Given the description of an element on the screen output the (x, y) to click on. 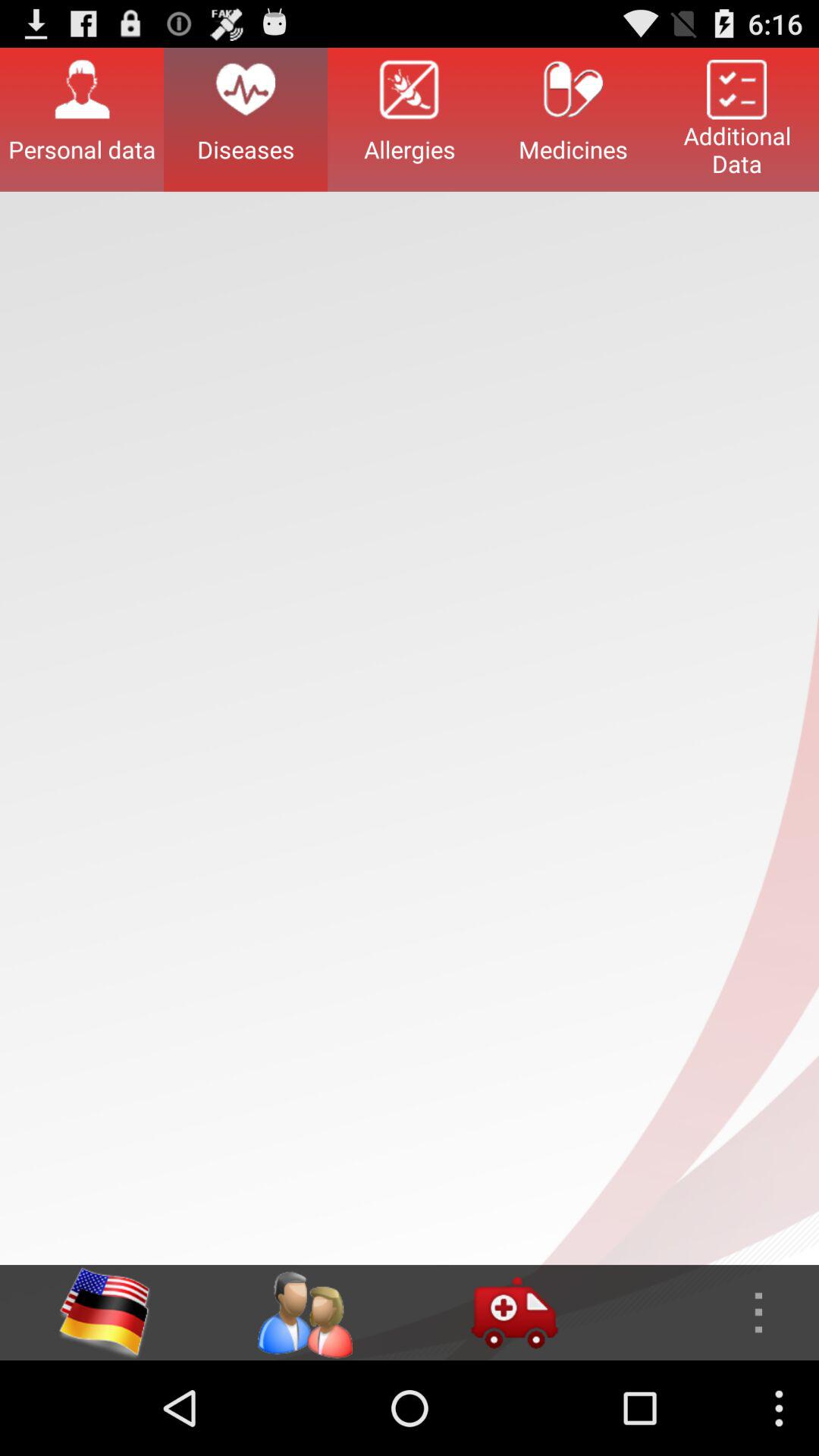
launch the icon to the right of personal data item (245, 119)
